Given the description of an element on the screen output the (x, y) to click on. 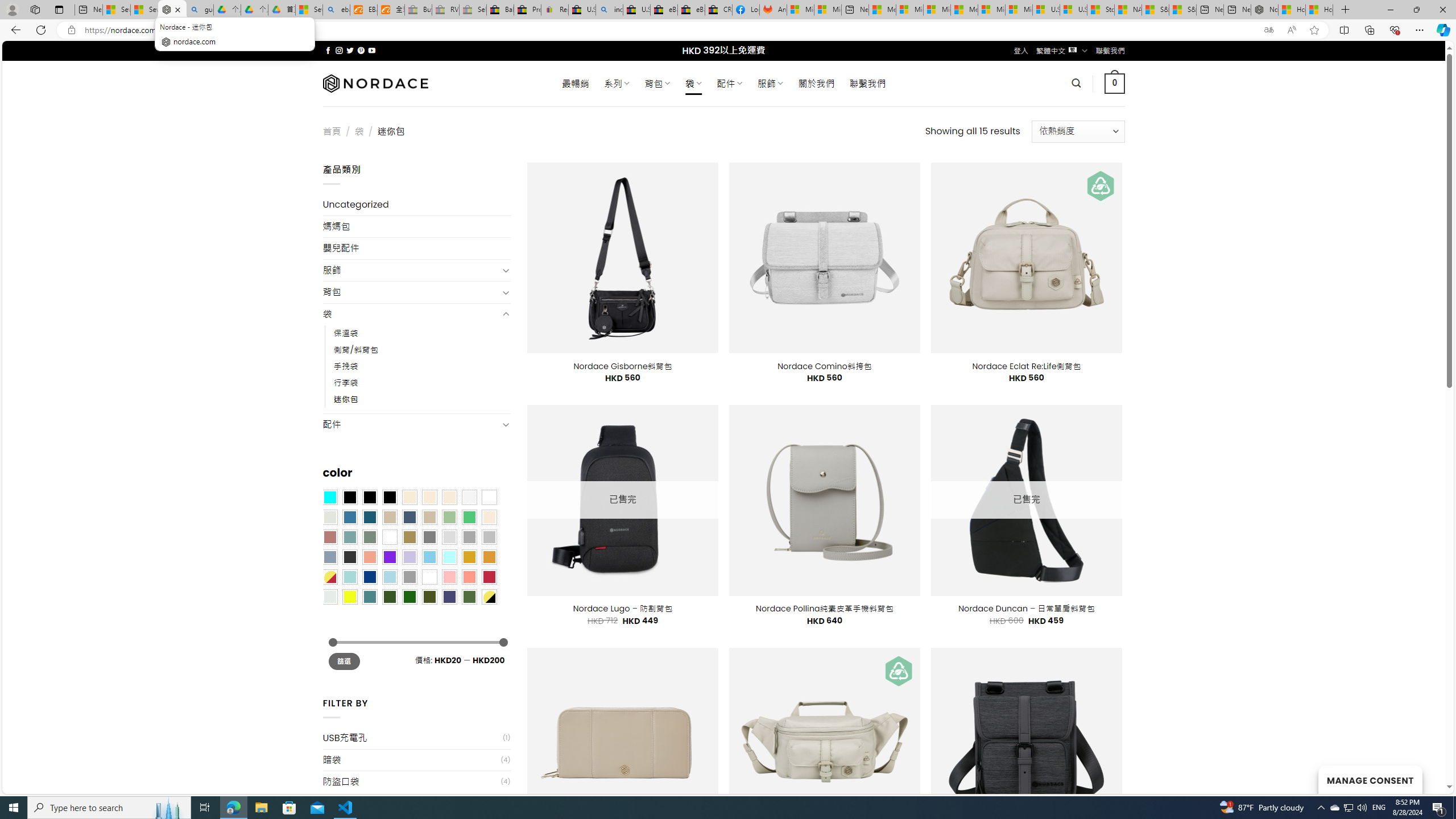
MANAGE CONSENT (1369, 779)
